Given the description of an element on the screen output the (x, y) to click on. 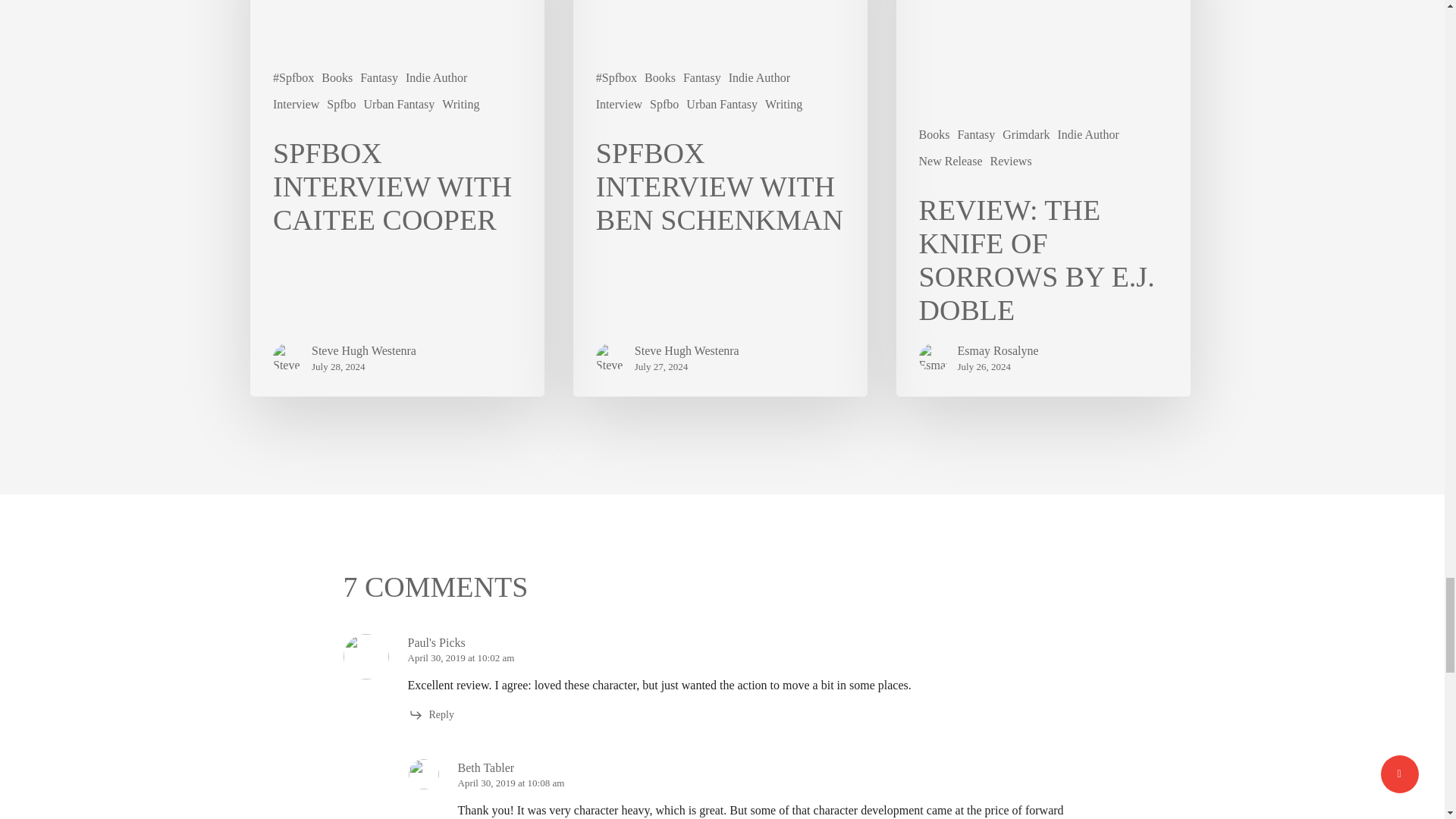
Indie Author (436, 77)
Fantasy (378, 77)
Books (336, 77)
